Given the description of an element on the screen output the (x, y) to click on. 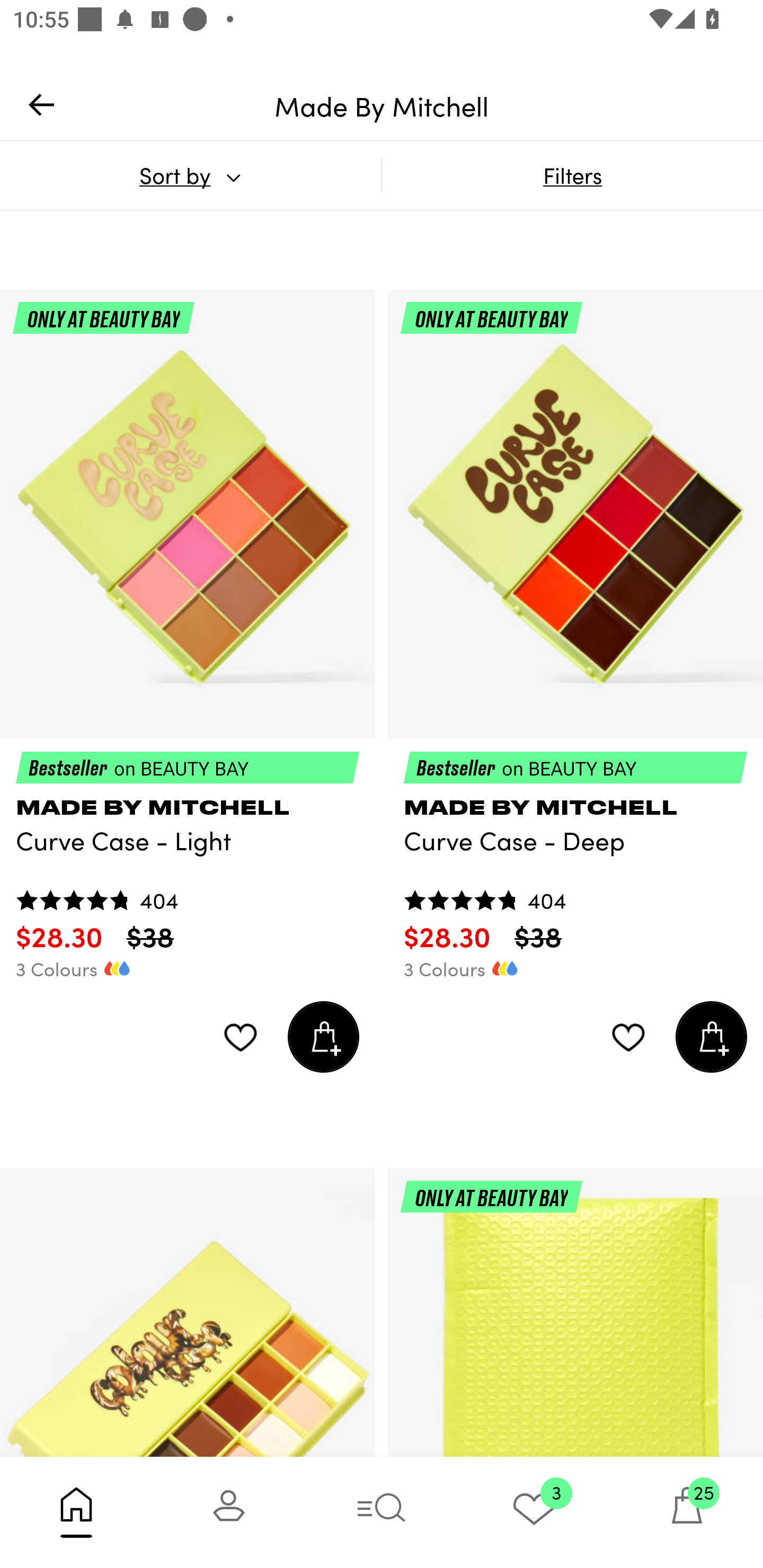
Sort by (190, 174)
Filters (572, 174)
3 (533, 1512)
25 (686, 1512)
